Given the description of an element on the screen output the (x, y) to click on. 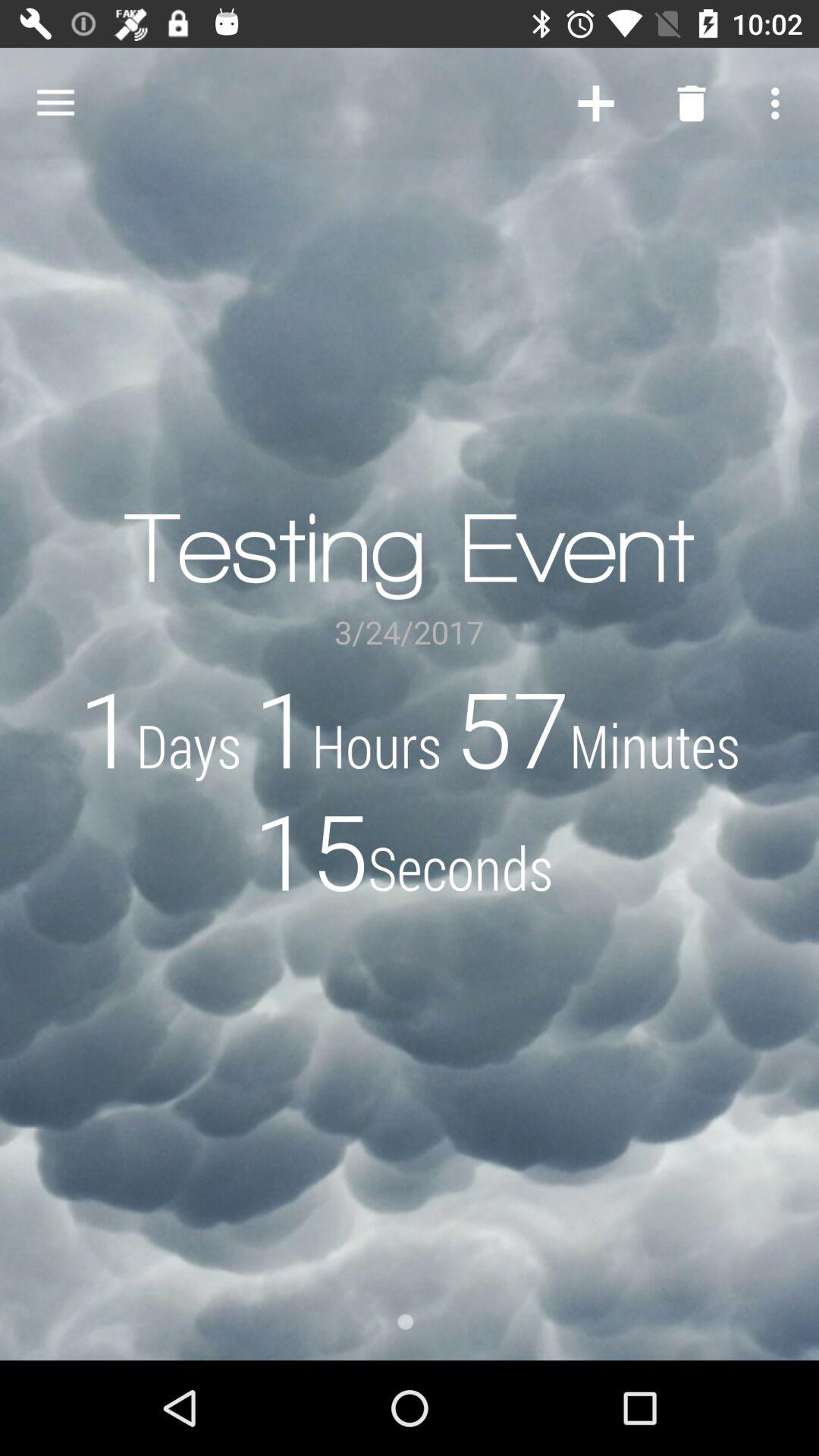
press the item above the 1days 1hours 57minutes (779, 103)
